Given the description of an element on the screen output the (x, y) to click on. 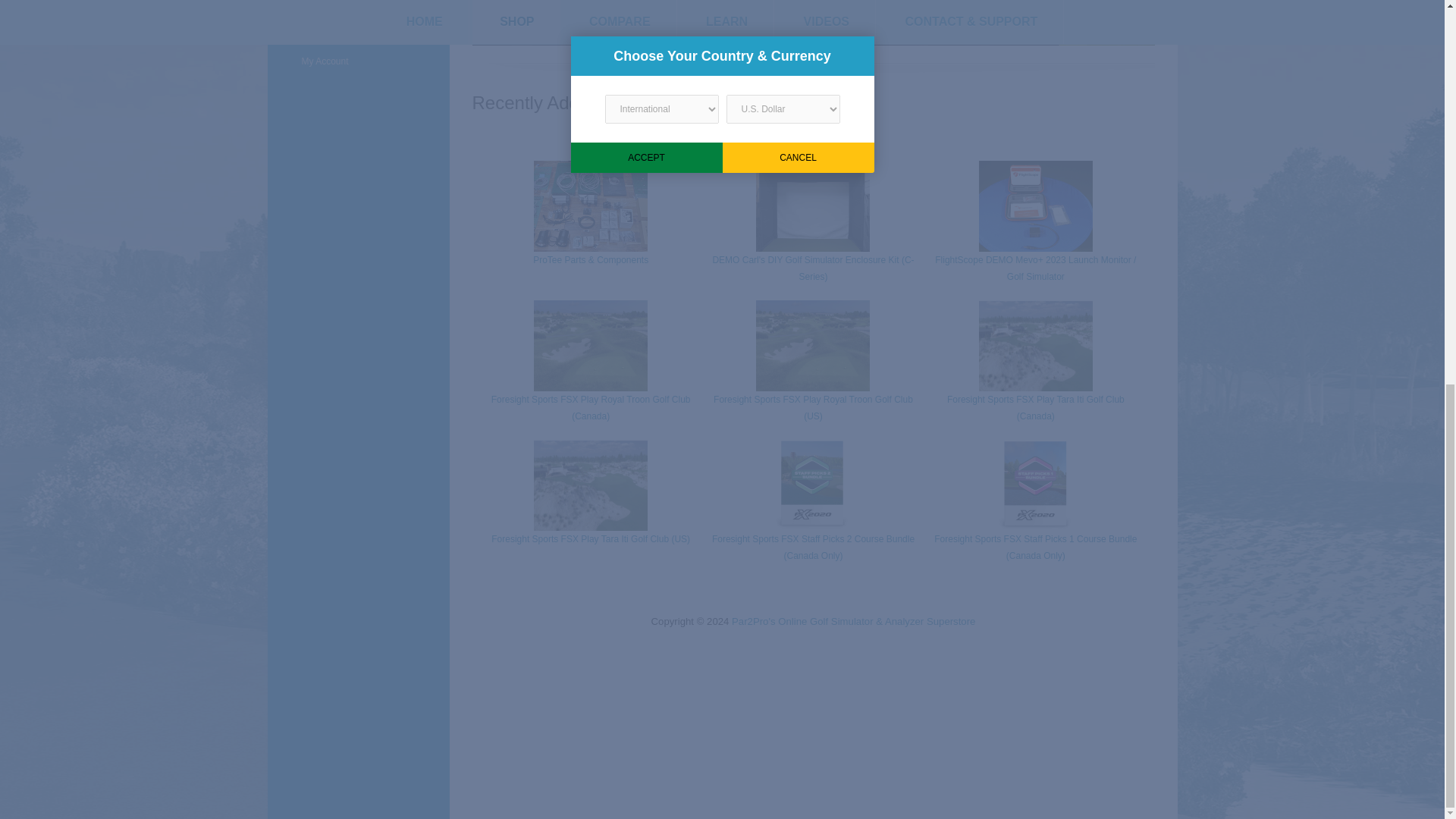
My Account (357, 61)
Account (357, 1)
Checkout (357, 37)
